Given the description of an element on the screen output the (x, y) to click on. 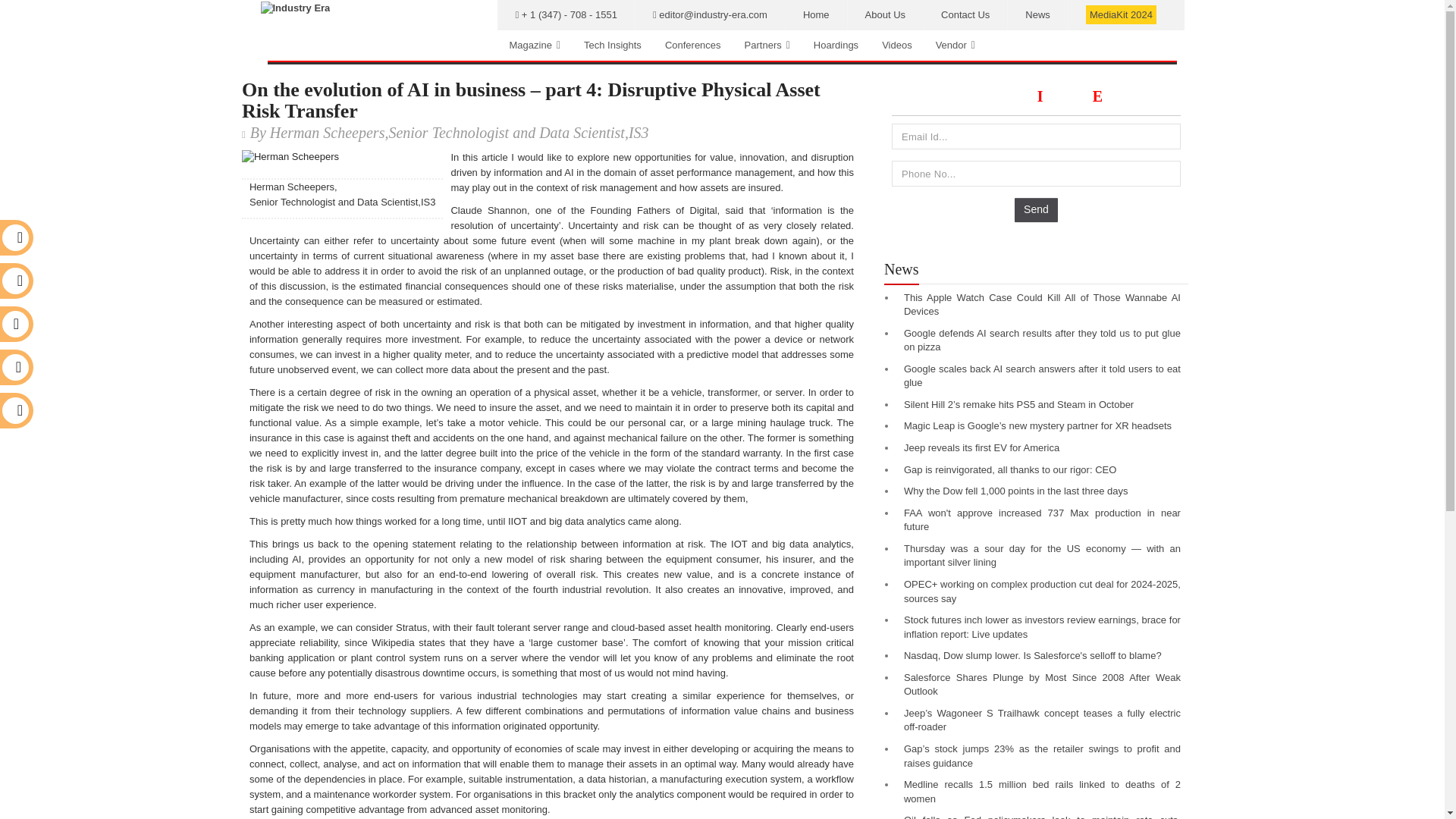
Tech Insights (612, 45)
News (1037, 15)
Magazine (534, 45)
Home (816, 15)
Videos (896, 45)
Vendor (955, 45)
Hoardings (835, 45)
Conferences (692, 45)
About Us (885, 15)
Contact Us (965, 15)
MediaKit 2024 (1120, 15)
Partners (767, 45)
